Given the description of an element on the screen output the (x, y) to click on. 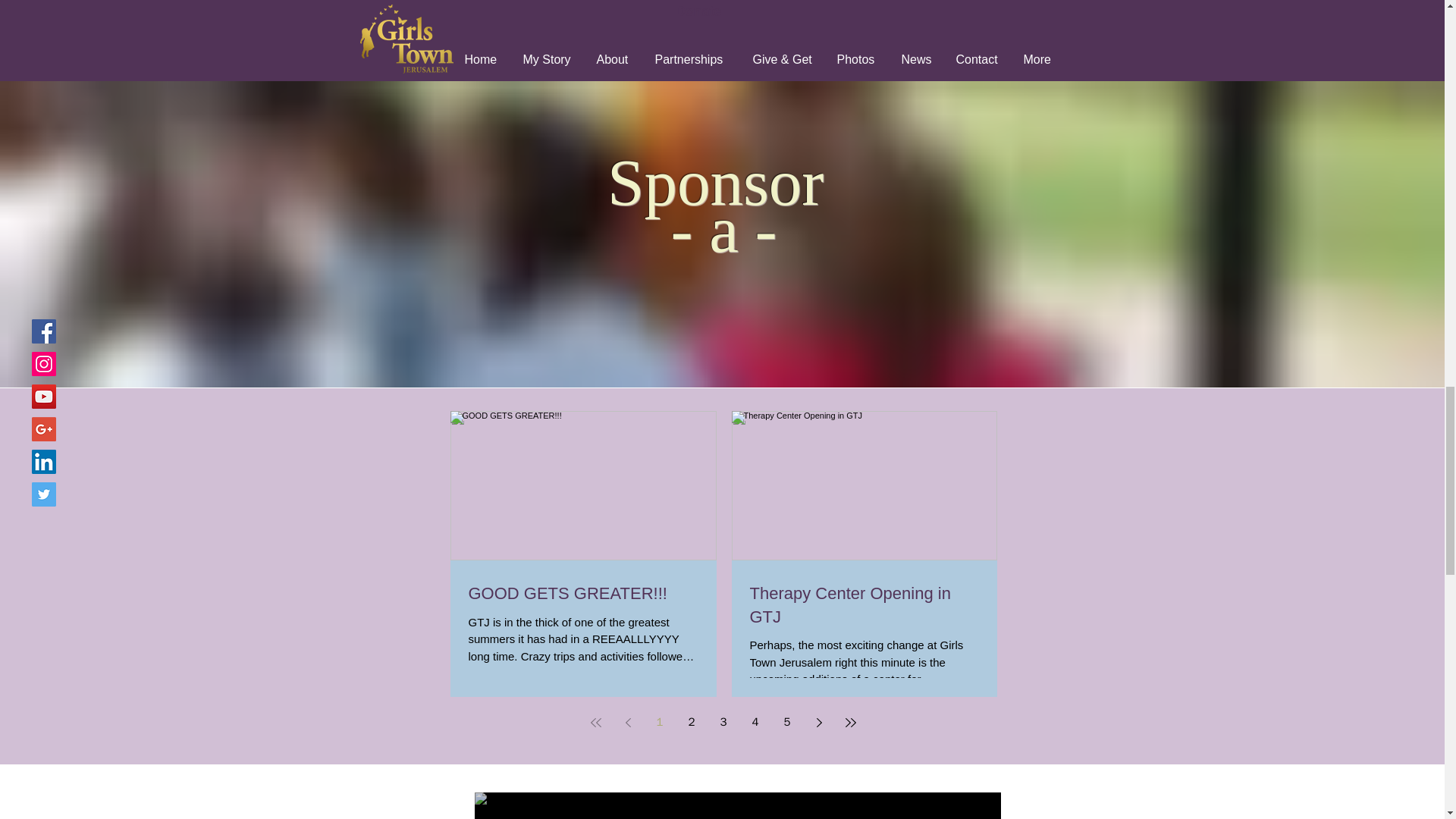
Therapy Center Opening in GTJ (863, 605)
5 (786, 722)
3 (723, 722)
GOOD GETS GREATER!!! (583, 594)
2 (691, 722)
4 (754, 722)
